Given the description of an element on the screen output the (x, y) to click on. 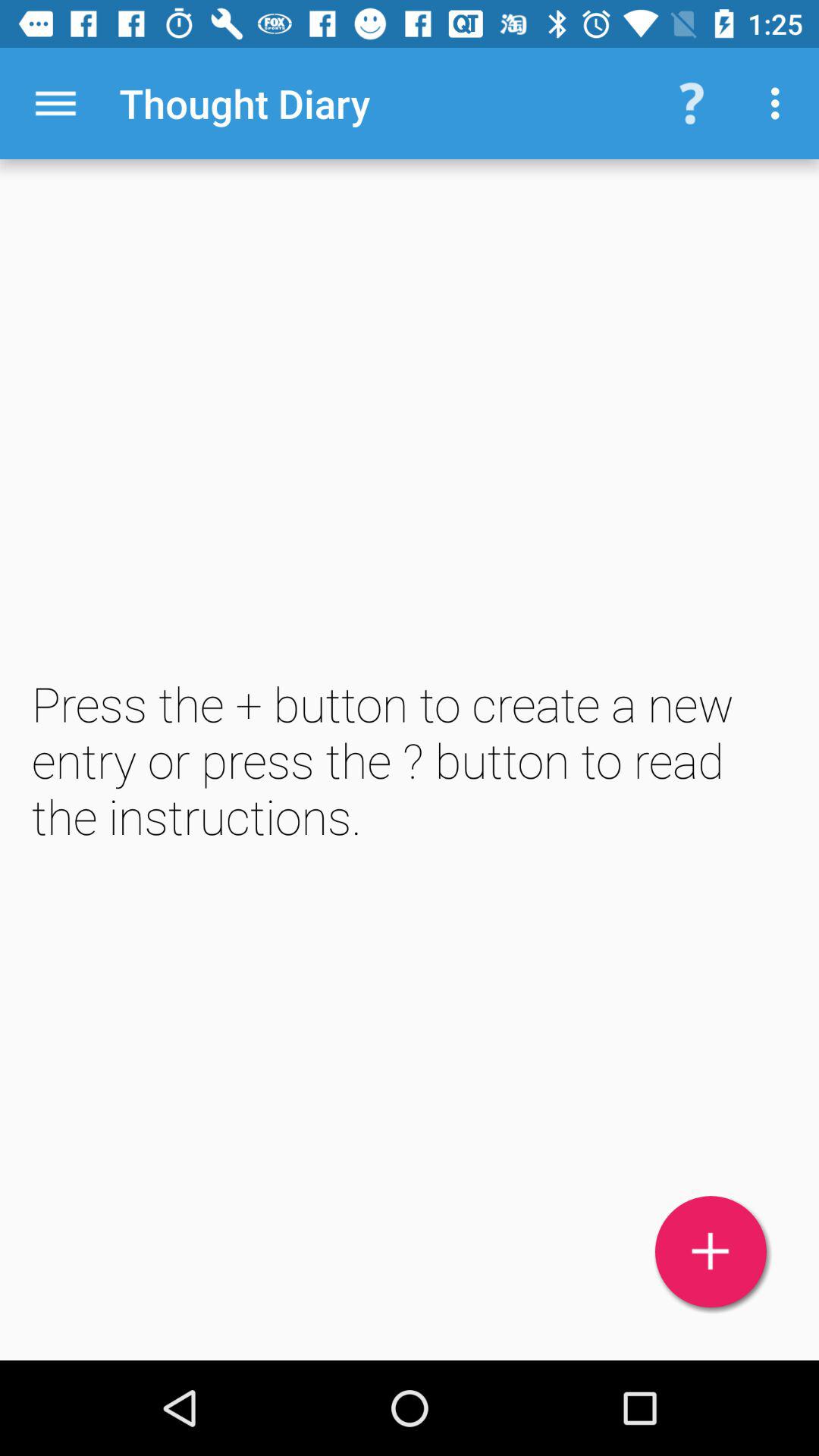
tap item to the left of thought diary item (55, 103)
